Given the description of an element on the screen output the (x, y) to click on. 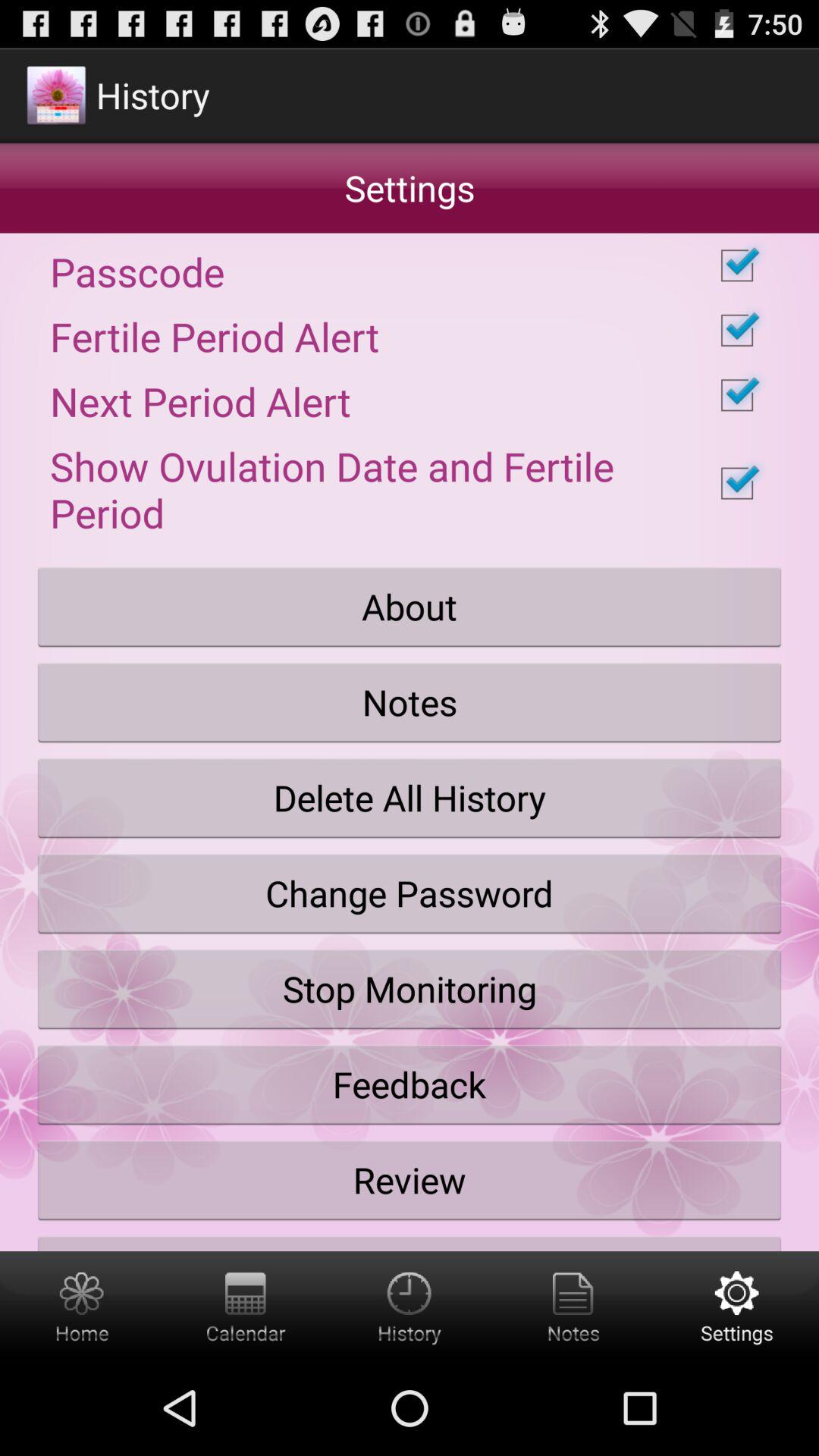
select passcode item (409, 265)
